Given the description of an element on the screen output the (x, y) to click on. 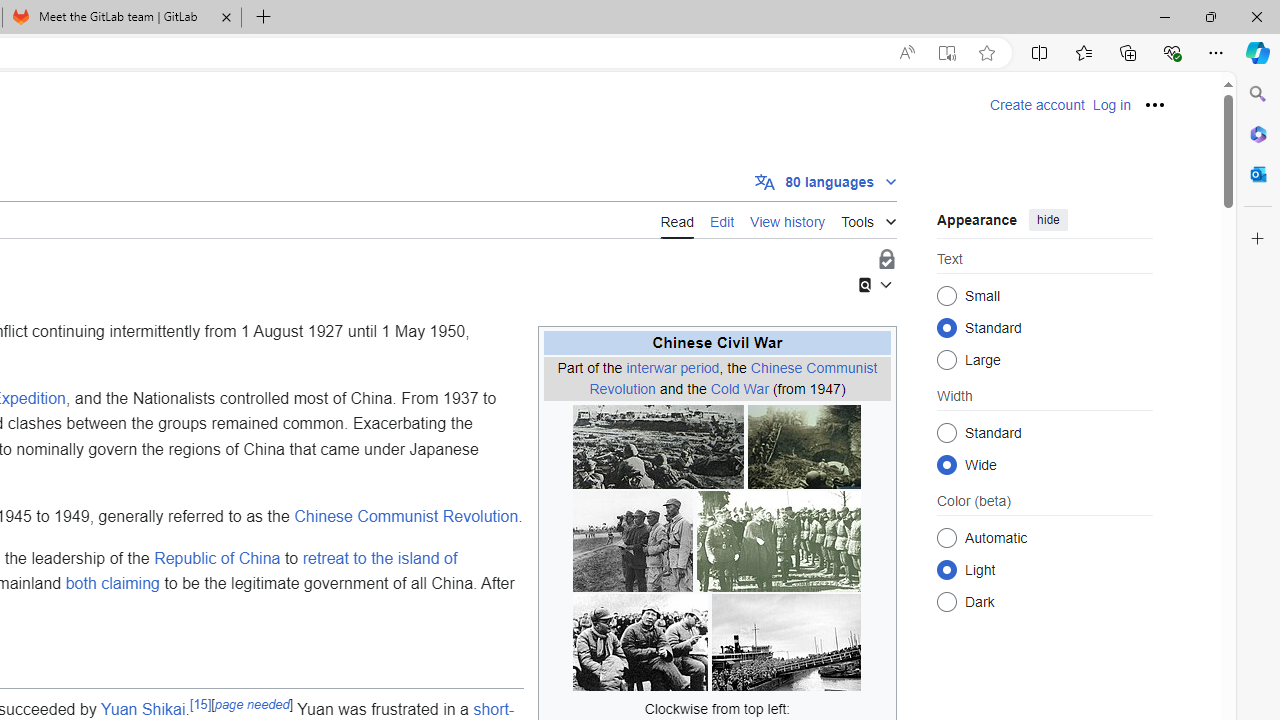
Log in (1111, 105)
Standard (946, 431)
Wide (946, 464)
Class: mw-file-description (786, 642)
Chinese Civil War (717, 342)
Edit (721, 219)
Page protected with pending changes (886, 259)
Tools (868, 218)
Republic of China (217, 557)
Large (946, 359)
Automatic (946, 537)
